Given the description of an element on the screen output the (x, y) to click on. 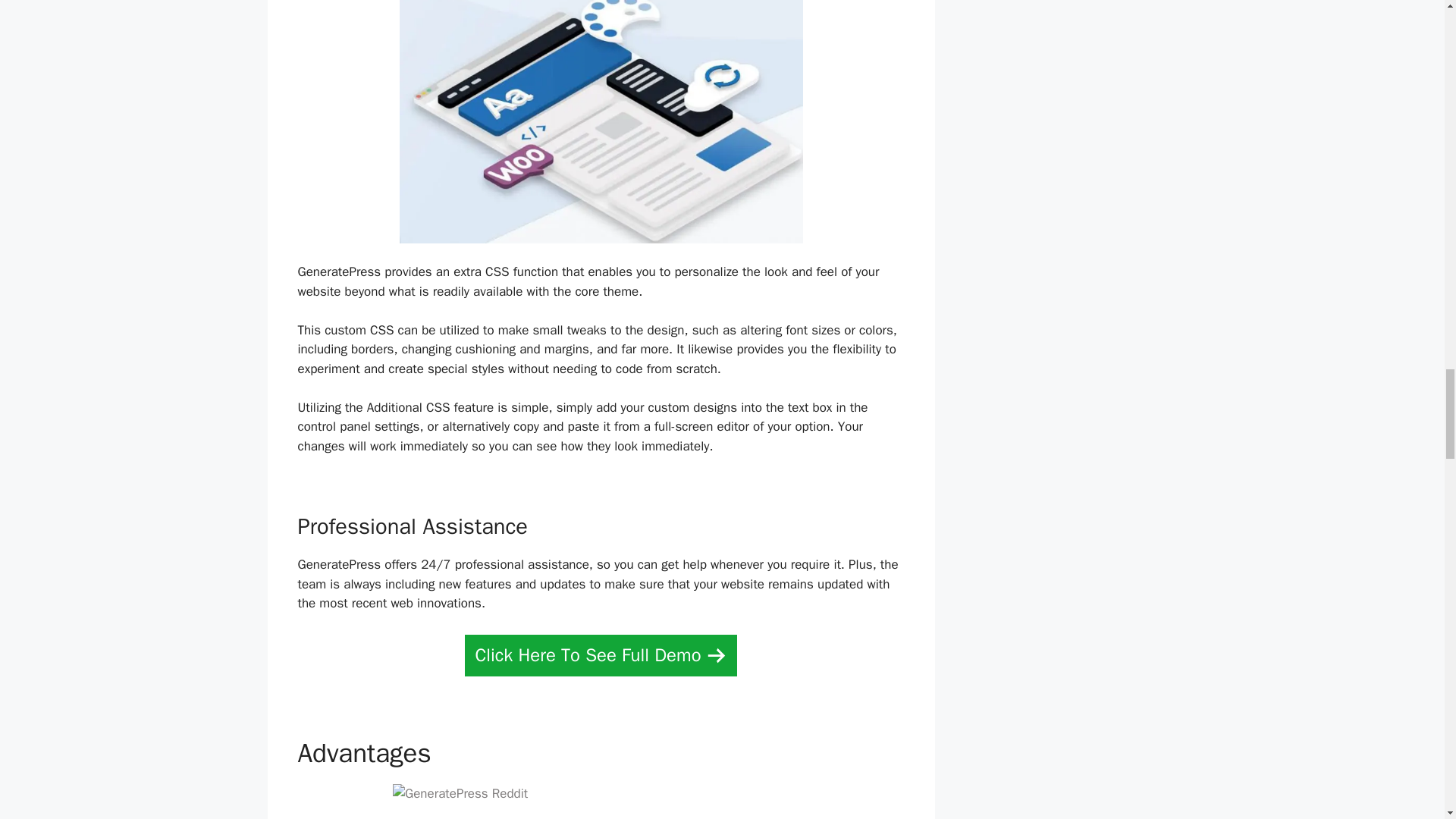
Click Here To See Full Demo (600, 655)
